Given the description of an element on the screen output the (x, y) to click on. 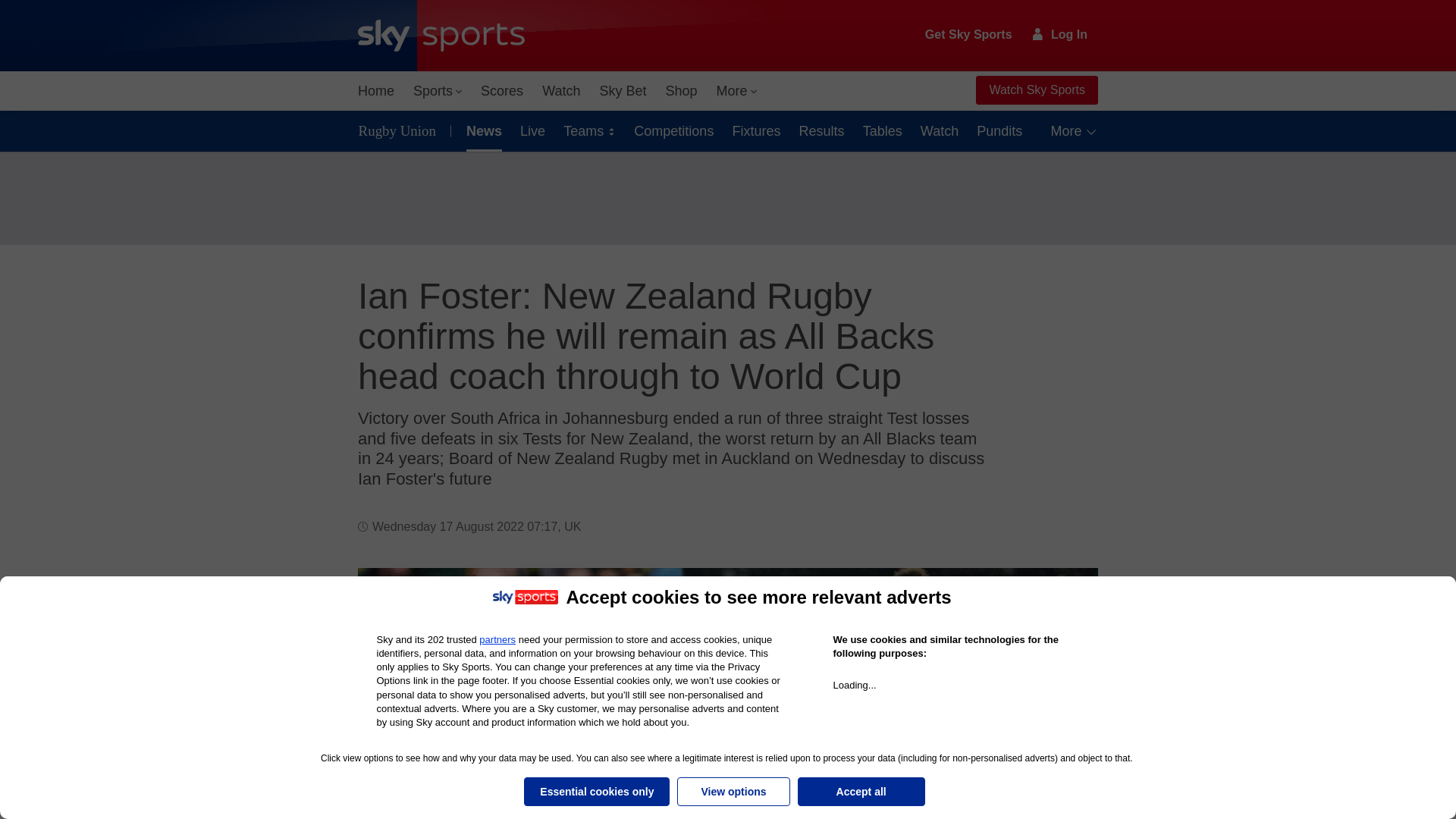
Watch (561, 91)
More (736, 91)
Scores (502, 91)
Sky Bet (622, 91)
Shop (681, 91)
Home (375, 91)
News (481, 130)
Watch Sky Sports (1036, 90)
Get Sky Sports (968, 34)
Log In (1060, 33)
Rugby Union (400, 130)
Sports (437, 91)
